Given the description of an element on the screen output the (x, y) to click on. 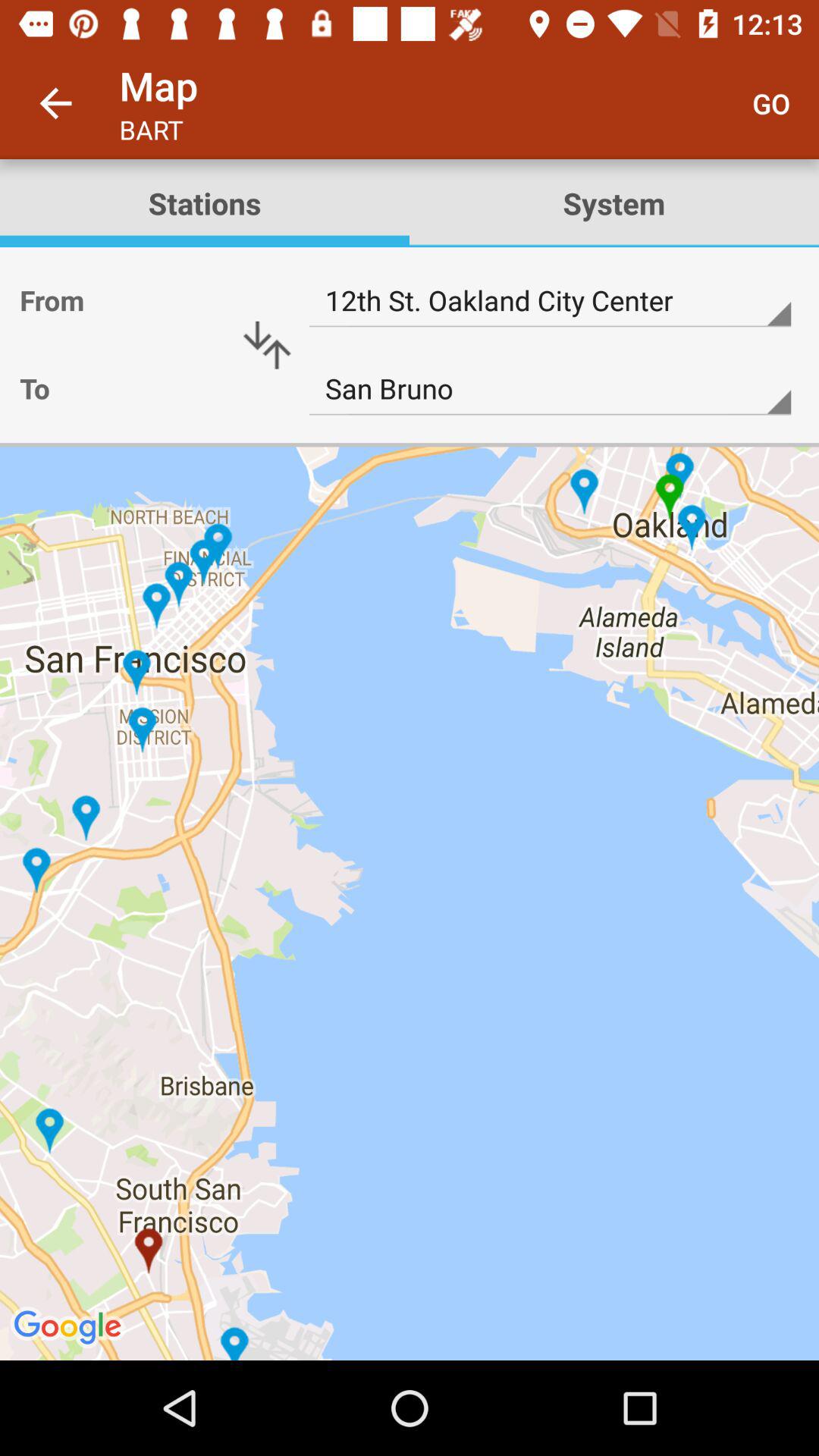
scroll until the go icon (771, 103)
